Given the description of an element on the screen output the (x, y) to click on. 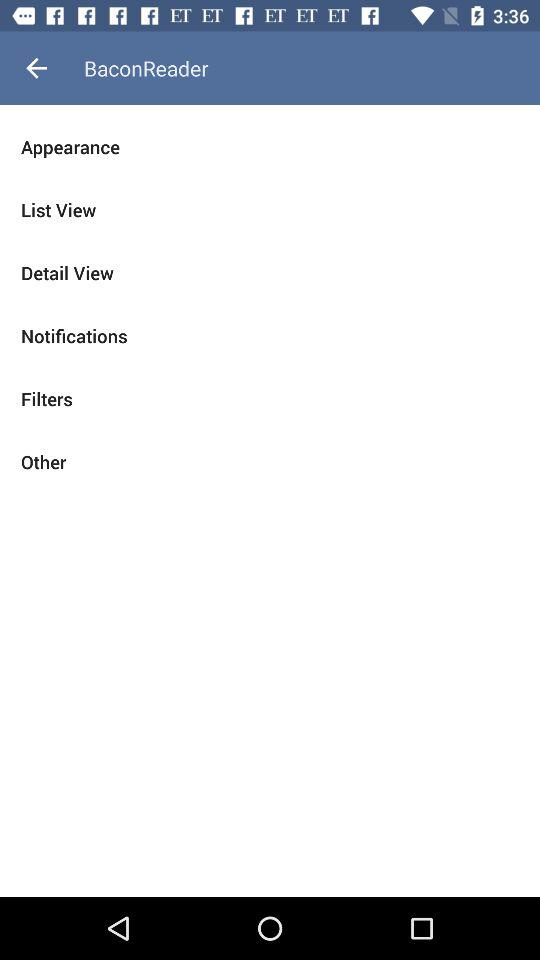
jump to the filters item (270, 398)
